Given the description of an element on the screen output the (x, y) to click on. 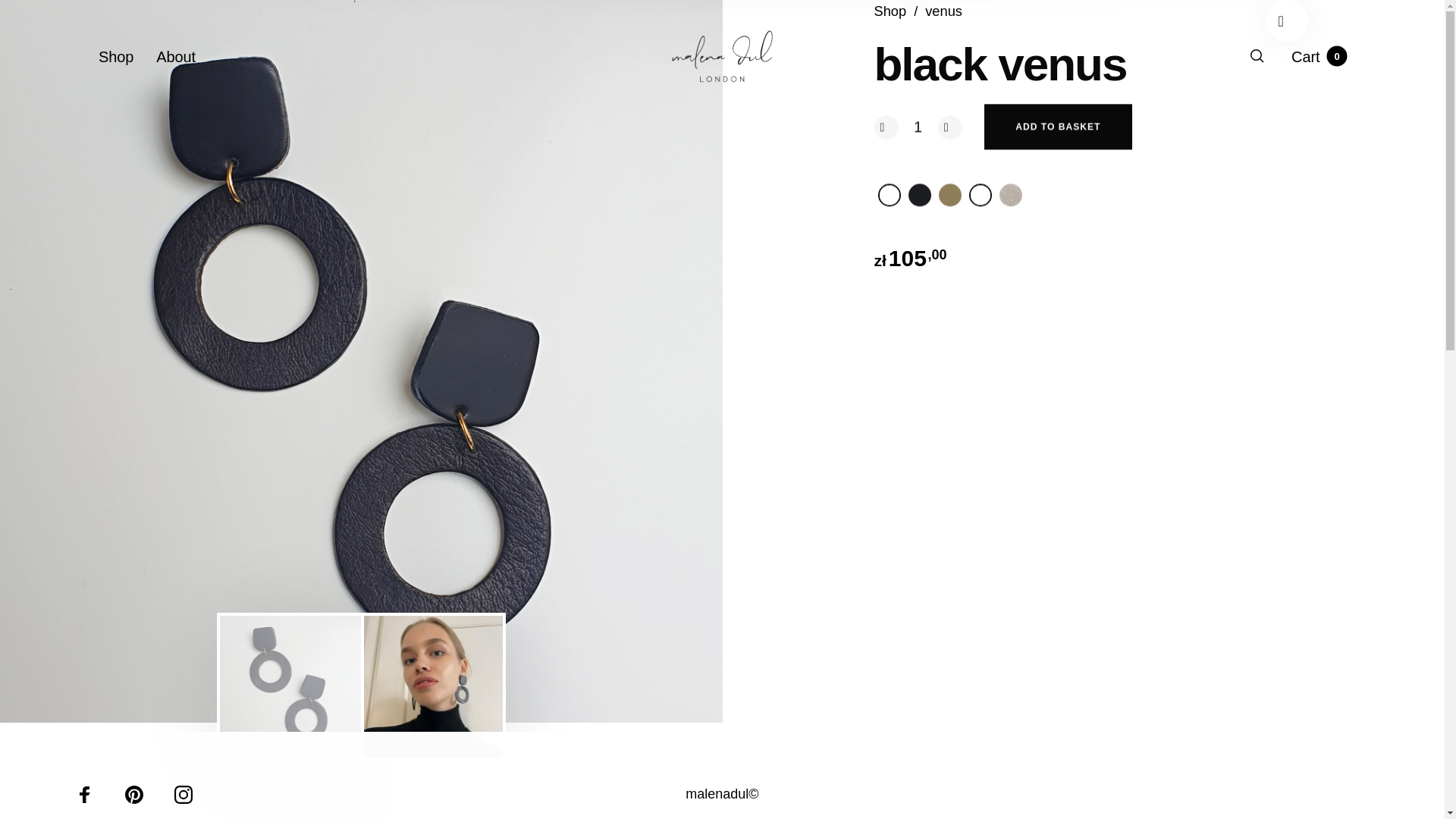
Black (919, 194)
White (980, 194)
Gold (949, 194)
About (175, 56)
1 (917, 126)
ADD TO BASKET (1058, 126)
venus (943, 10)
White (889, 194)
Shop (116, 56)
Facebook (84, 794)
